Given the description of an element on the screen output the (x, y) to click on. 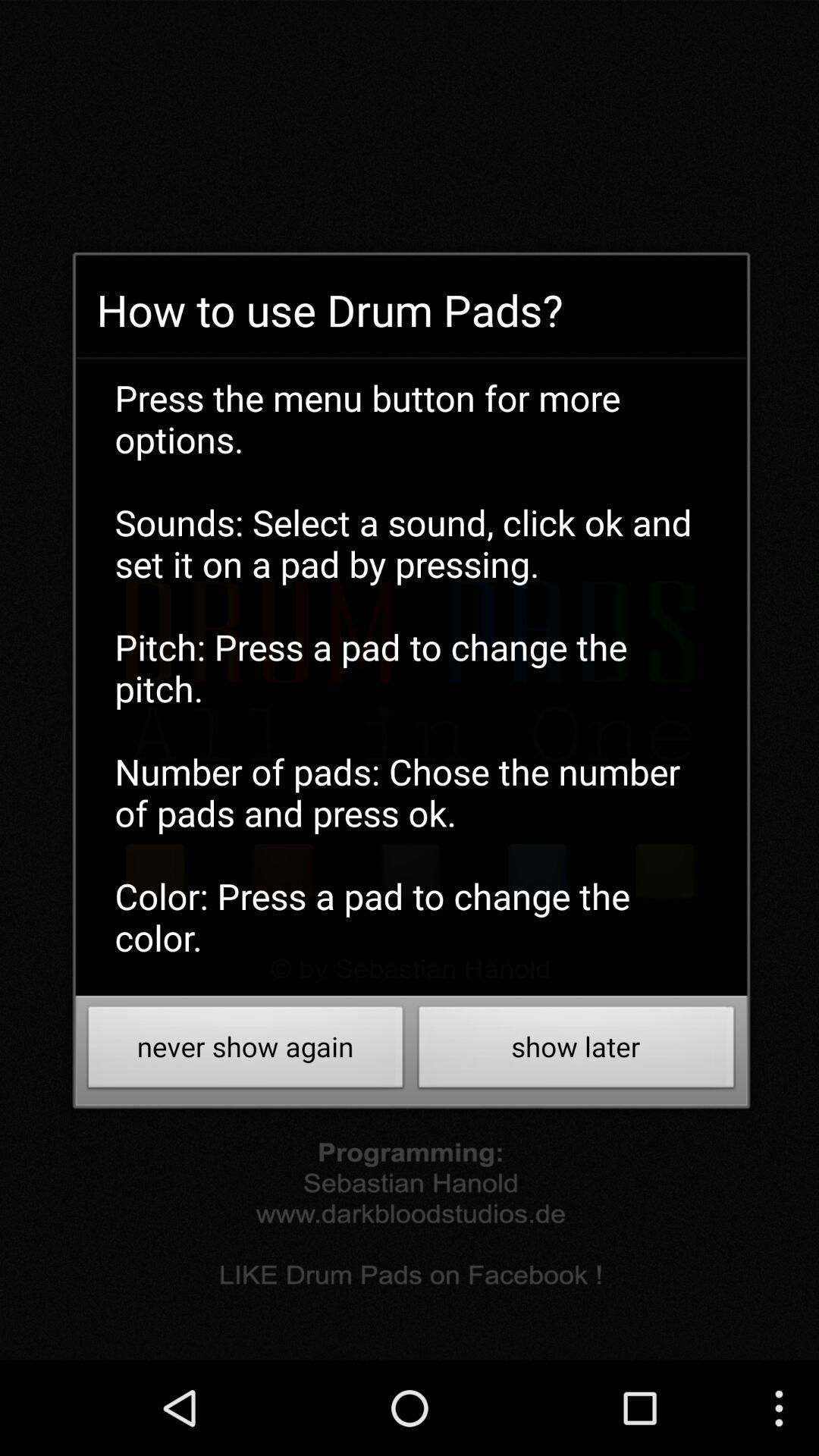
choose button at the bottom left corner (245, 1051)
